Given the description of an element on the screen output the (x, y) to click on. 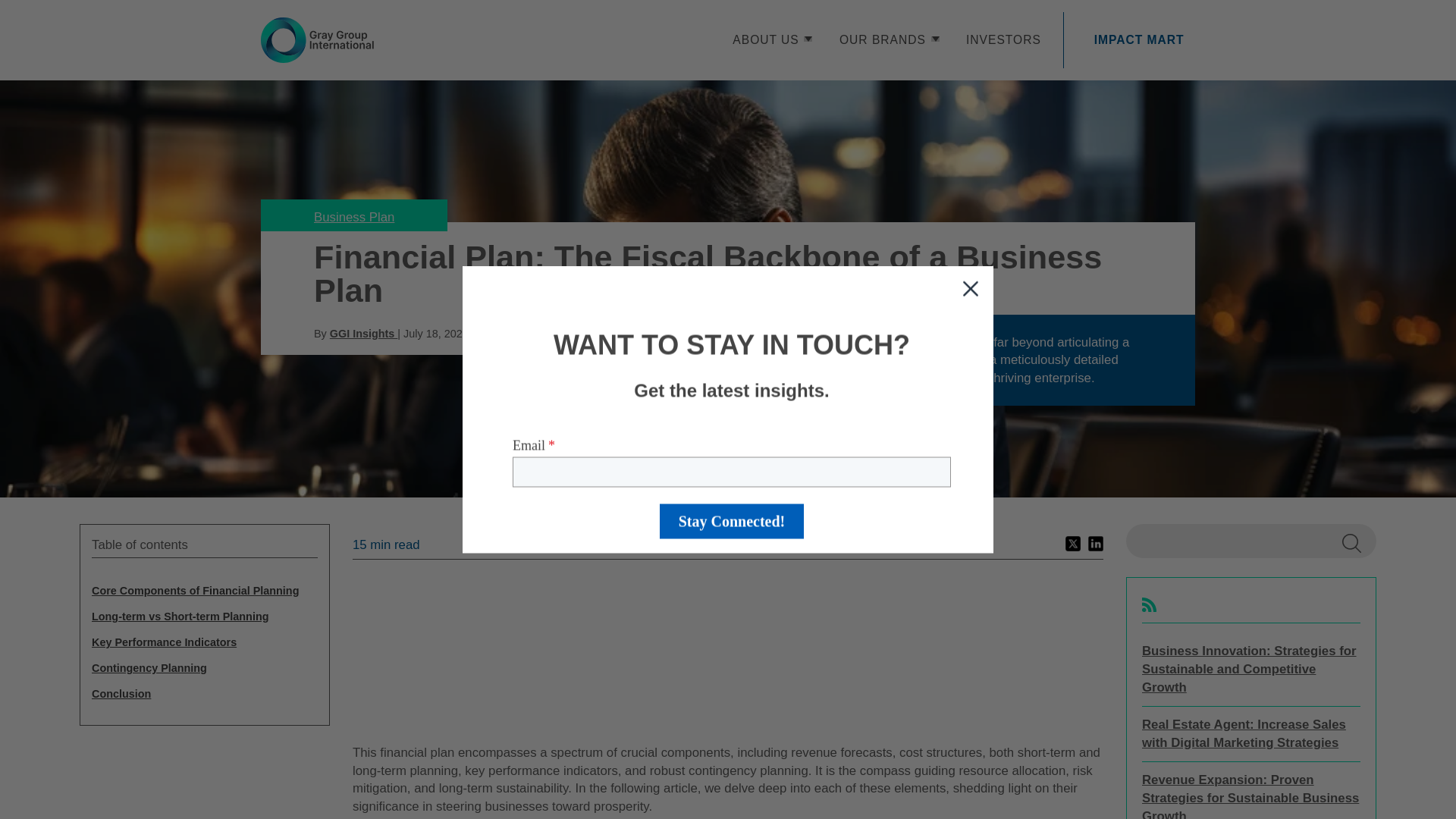
Core Components of Financial Planning (204, 590)
Contingency Planning (204, 667)
IMPACT MART (1139, 39)
Show submenu for ABOUT US (807, 38)
OUR BRANDS (883, 39)
Show submenu for OUR BRANDS (935, 38)
Business Plan (354, 216)
Long-term vs Short-term Planning (204, 616)
ABOUT US (764, 39)
GGI main logo (317, 40)
INVESTORS (1003, 39)
Advertisement (727, 654)
Conclusion (204, 694)
Key Performance Indicators (204, 642)
